Given the description of an element on the screen output the (x, y) to click on. 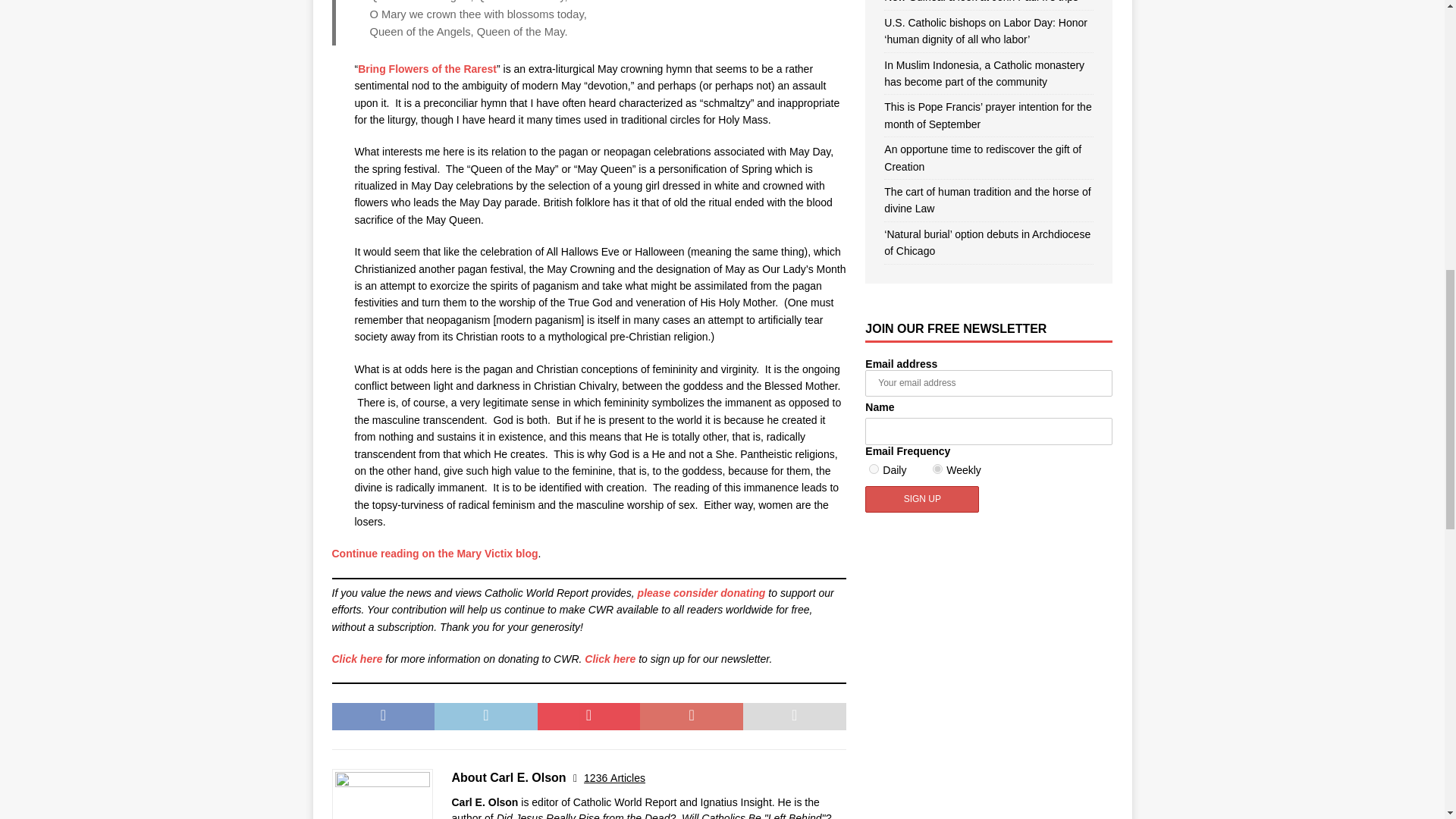
bef84f4b50 (937, 469)
63bd12237f (874, 469)
Sign up (921, 499)
